Given the description of an element on the screen output the (x, y) to click on. 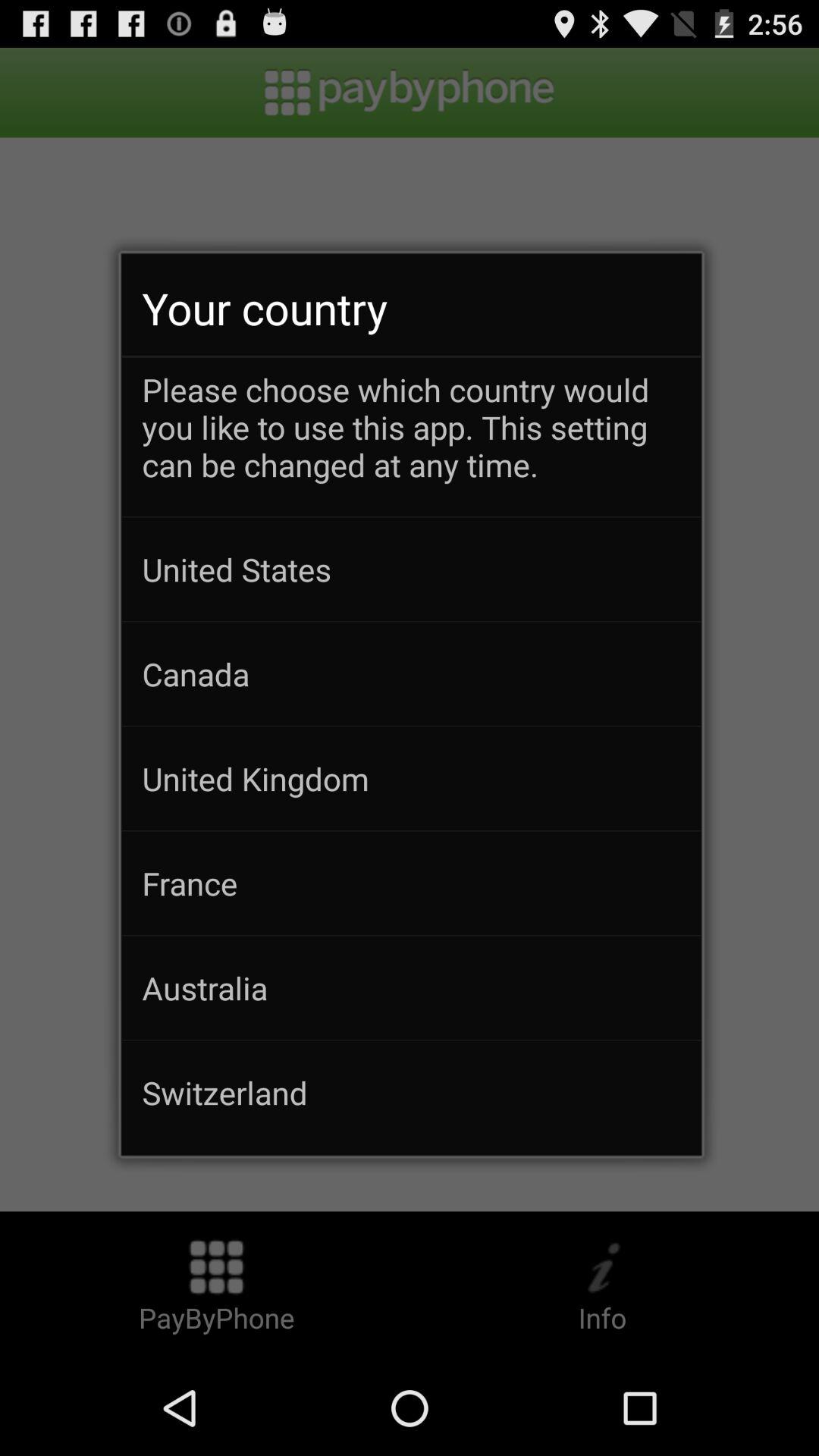
turn off the canada app (411, 673)
